Given the description of an element on the screen output the (x, y) to click on. 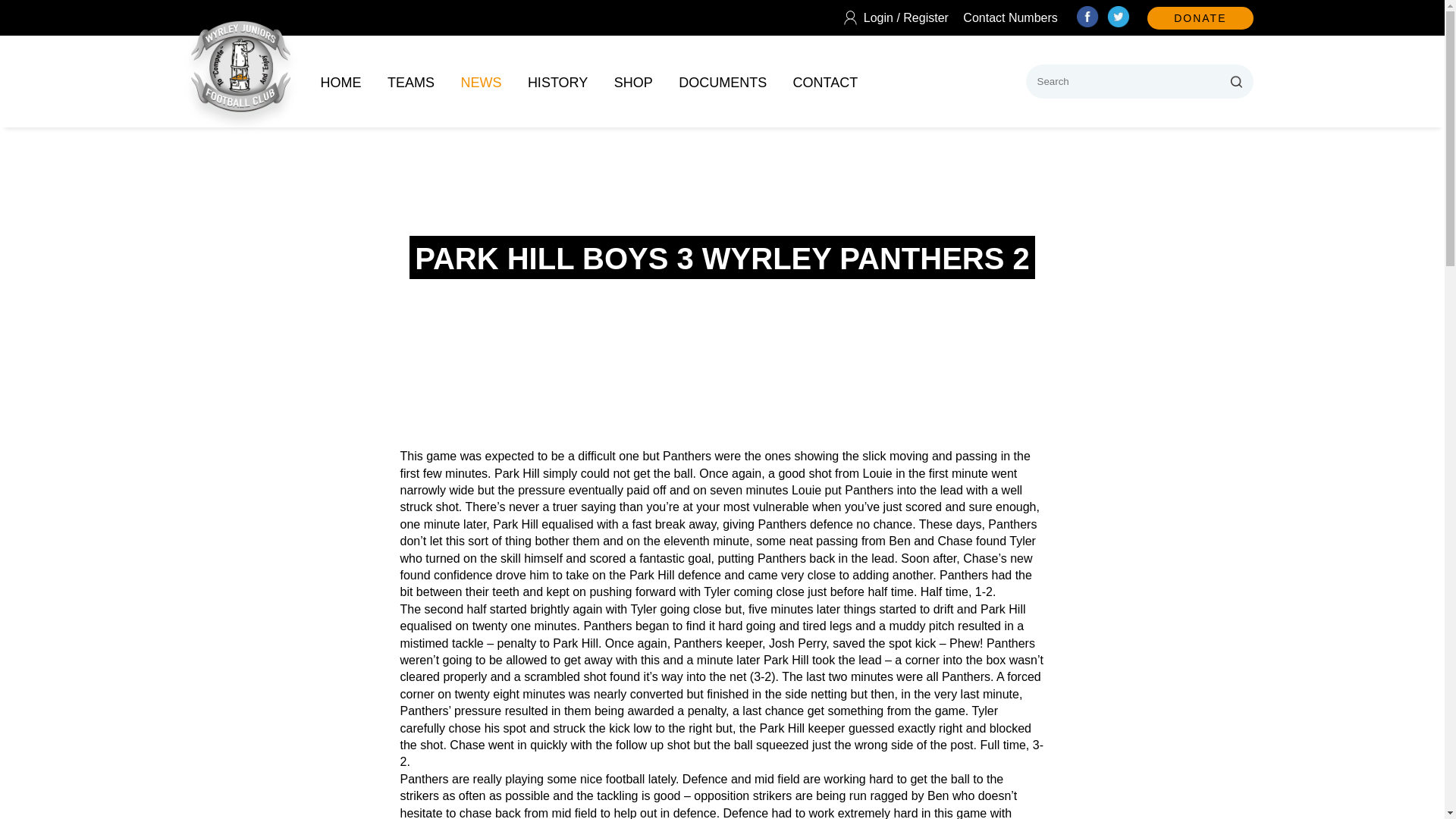
TEAMS (410, 82)
NEWS (480, 82)
HISTORY (557, 82)
DONATE (1199, 17)
DOCUMENTS (722, 82)
Search (1235, 81)
Search (1235, 81)
CONTACT (826, 82)
HOME (340, 82)
Contact Numbers (1010, 17)
